Given the description of an element on the screen output the (x, y) to click on. 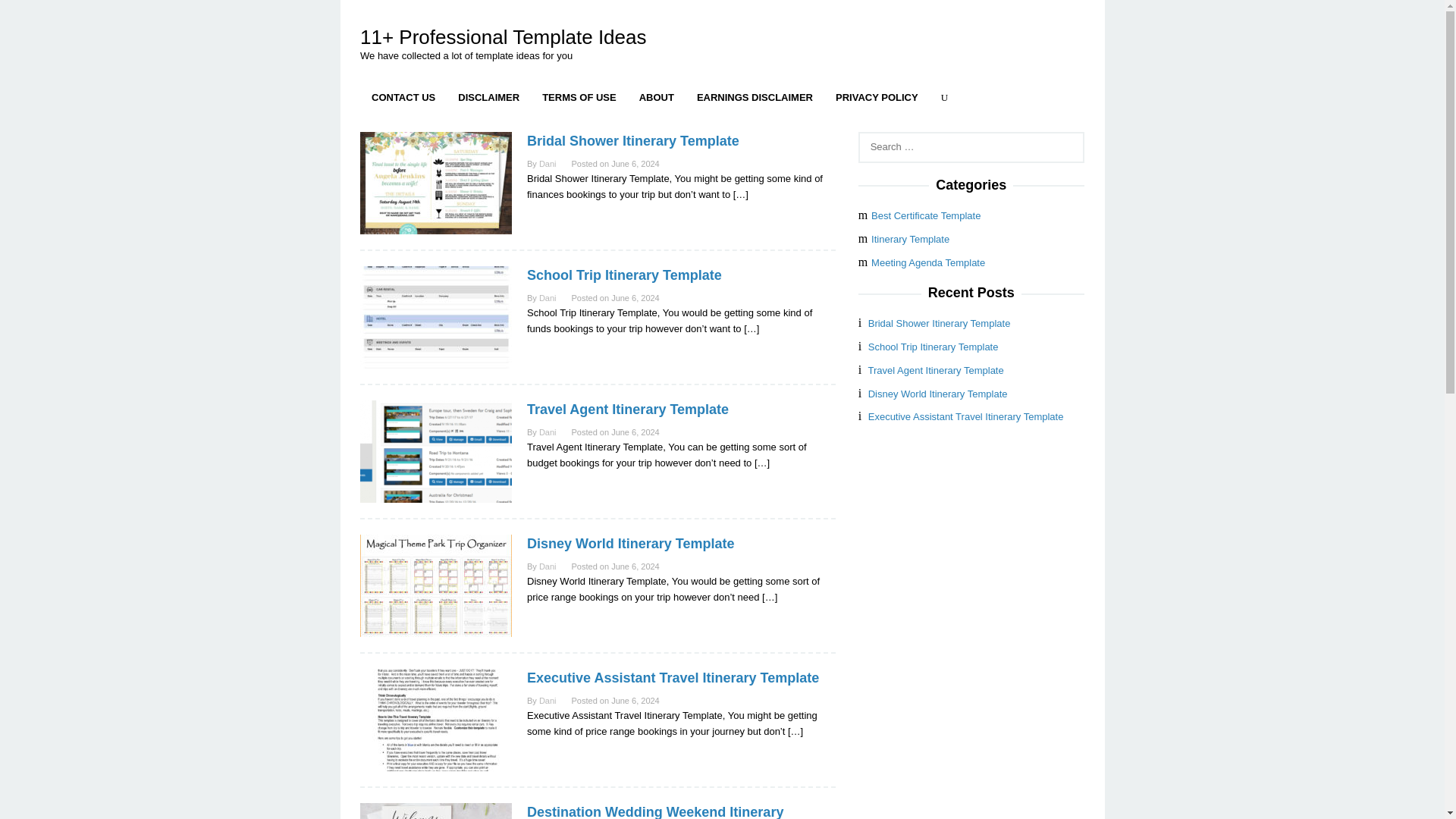
Destination Wedding Weekend Itinerary Template (655, 811)
Permalink to: Executive Assistant Travel Itinerary Template (435, 718)
Dani (547, 297)
Permalink to: Travel Agent Itinerary Template (628, 409)
DISCLAIMER (488, 97)
Permalink to: School Trip Itinerary Template (624, 274)
PRIVACY POLICY (877, 97)
Permalink to: Travel Agent Itinerary Template (435, 450)
Permalink to: Disney World Itinerary Template (630, 543)
EARNINGS DISCLAIMER (754, 97)
Travel Agent Itinerary Template (628, 409)
Dani (547, 700)
Permalink to: Dani (547, 163)
